Given the description of an element on the screen output the (x, y) to click on. 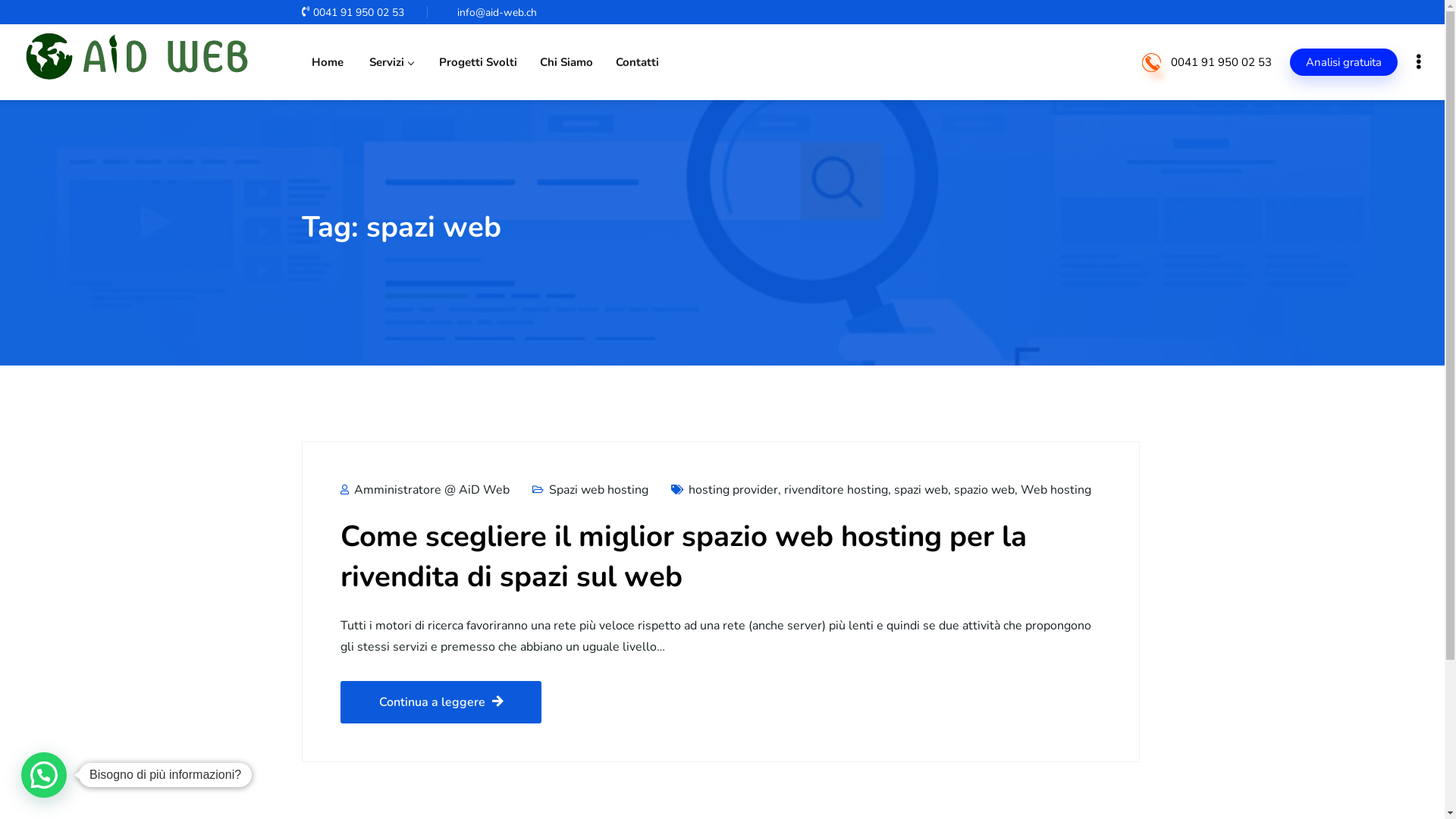
 Progetti Svolti Element type: text (476, 62)
 Servizi Element type: text (389, 62)
rivenditore hosting Element type: text (836, 489)
info@aid-web.ch Element type: text (494, 12)
spazio web Element type: text (983, 489)
Web hosting Element type: text (1055, 489)
Amministratore @ AiD Web Element type: text (423, 489)
Chi Siamo Element type: text (566, 62)
hosting provider Element type: text (733, 489)
spazi web Element type: text (920, 489)
Analisi gratuita Element type: text (1343, 61)
Home Element type: text (327, 62)
Spazi web hosting Element type: text (598, 489)
0041 91 950 02 53 Element type: text (352, 12)
0041 91 950 02 53 Element type: text (1220, 61)
Contatti Element type: text (636, 62)
Continua a leggere Element type: text (439, 701)
